Given the description of an element on the screen output the (x, y) to click on. 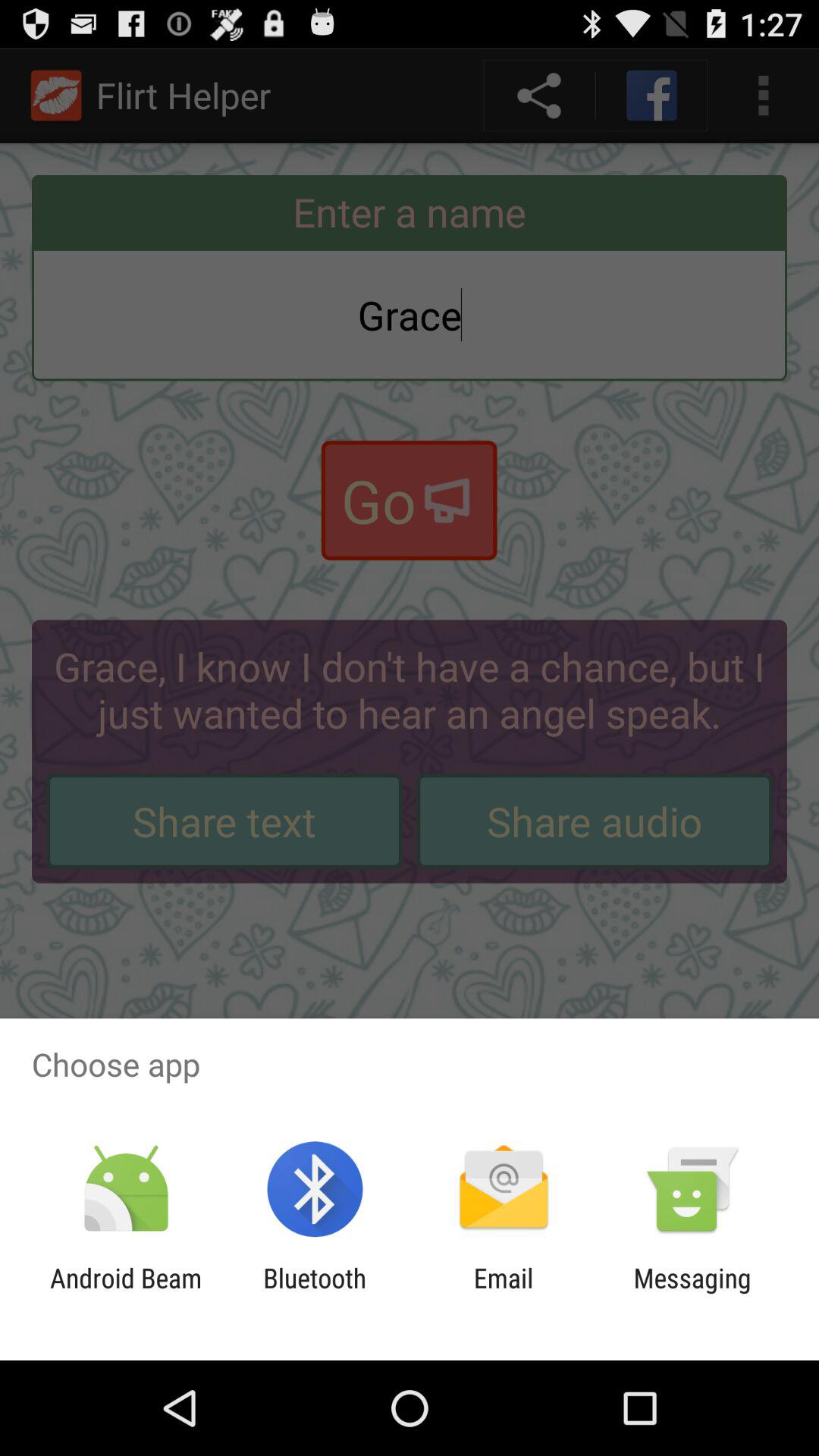
choose the item to the right of the email (692, 1293)
